Given the description of an element on the screen output the (x, y) to click on. 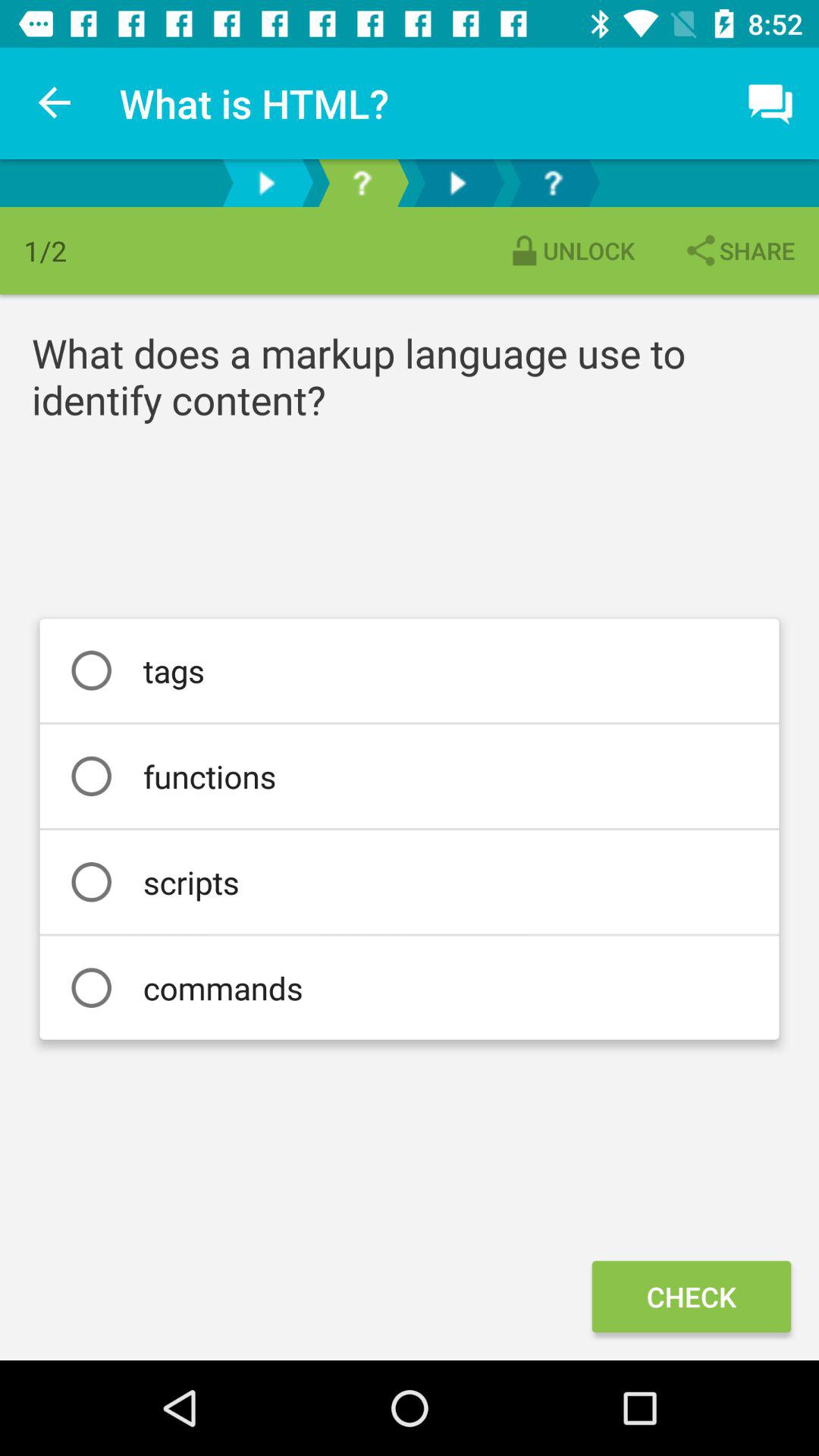
next question (361, 183)
